Given the description of an element on the screen output the (x, y) to click on. 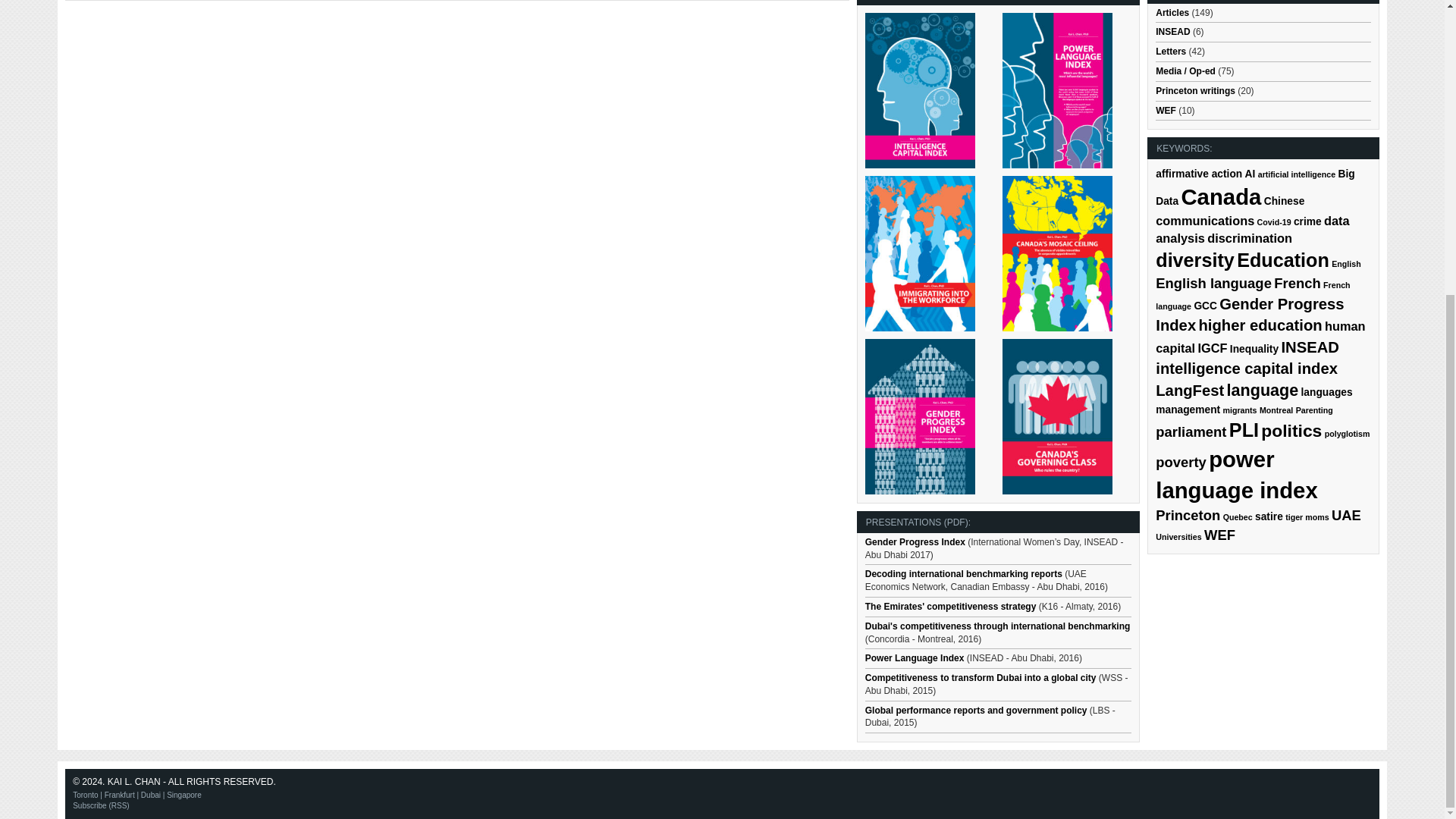
Princeton writings (1195, 90)
Articles (1172, 12)
Letters (1171, 50)
INSEAD (1172, 31)
Subscribe (100, 805)
WEF (1166, 110)
